Given the description of an element on the screen output the (x, y) to click on. 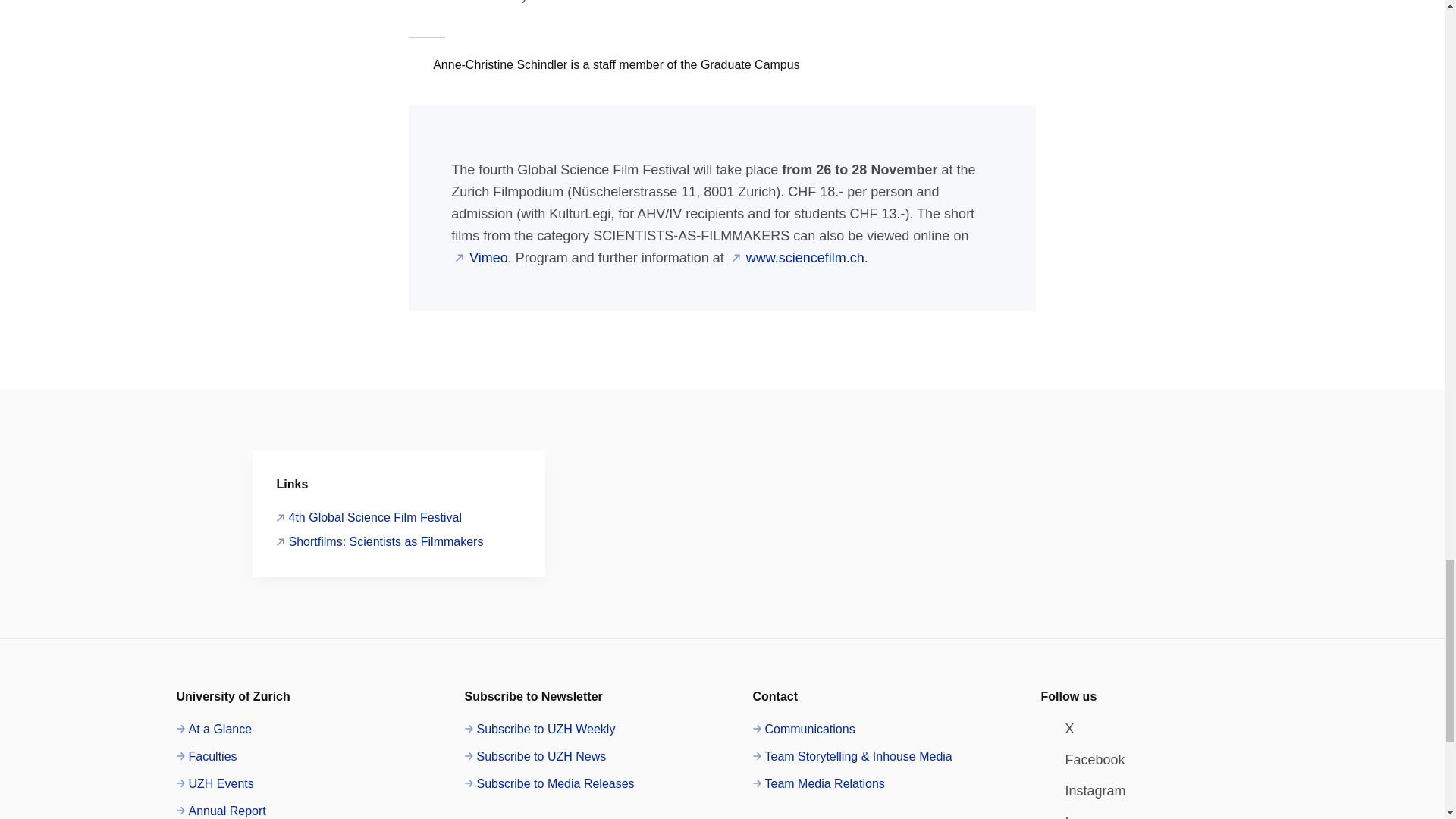
Subscribe to UZH Weekly (539, 729)
Subscribe to Media Releases (548, 783)
Annual Report (220, 810)
Shortfilms: Scientists as Filmmakers (379, 542)
Vimeo (481, 258)
Faculties (205, 756)
Faculties (205, 756)
Shortfilms: Scientists as Filmmakers (379, 542)
Communications (803, 729)
www.sciencefilm.ch (798, 258)
